Given the description of an element on the screen output the (x, y) to click on. 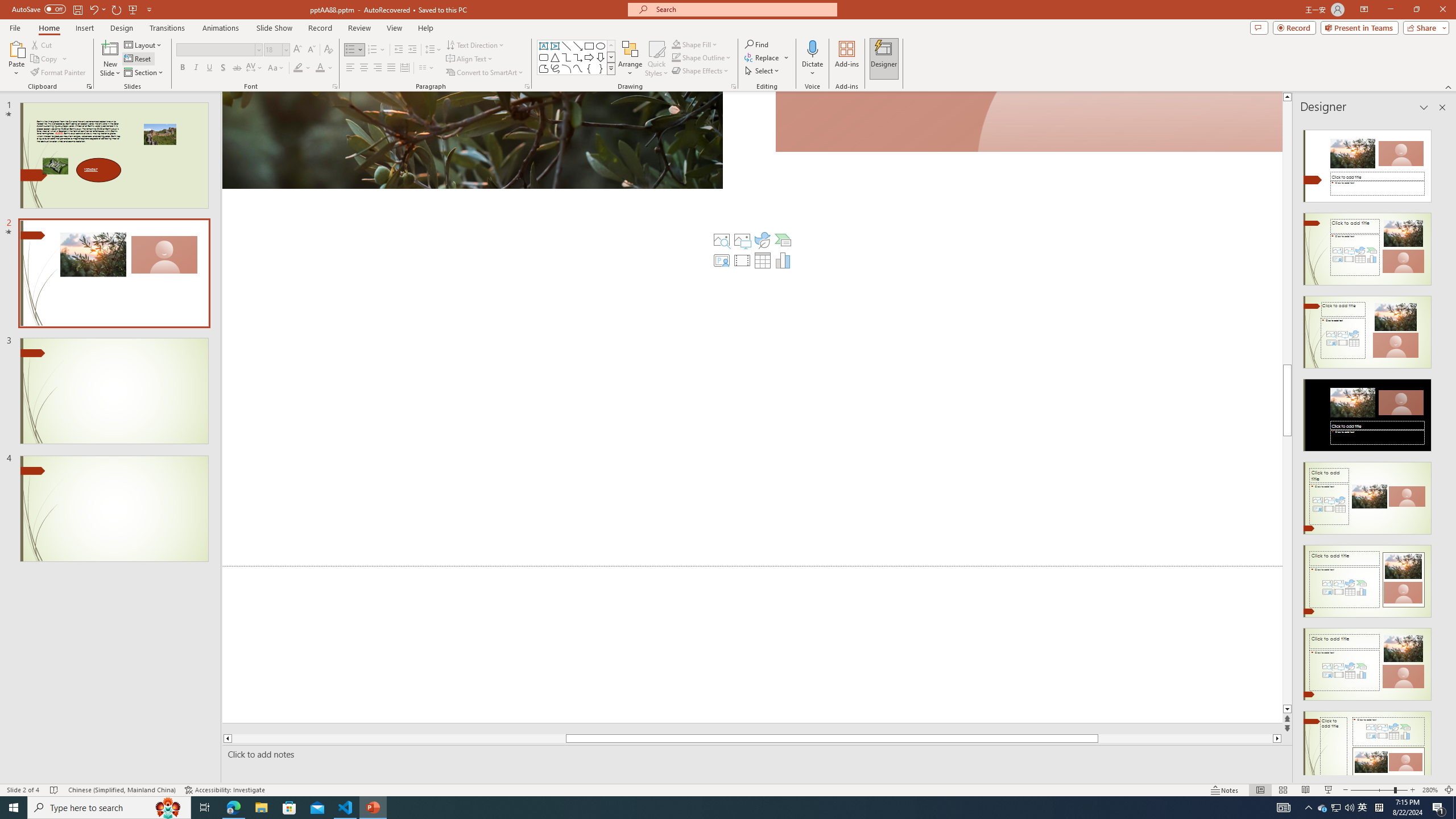
Camera 7, No camera detected. (1028, 122)
